Given the description of an element on the screen output the (x, y) to click on. 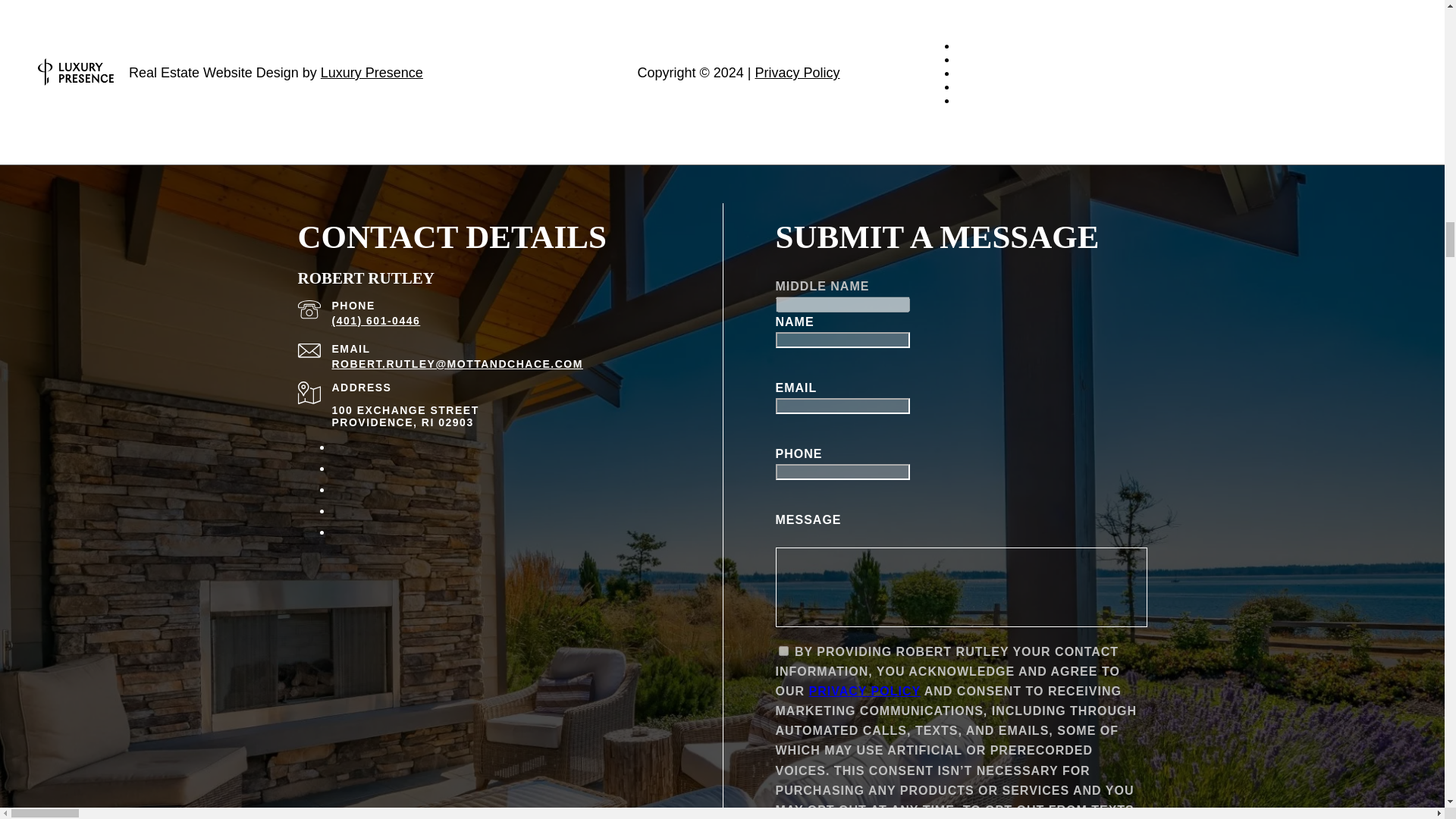
on (782, 651)
